Given the description of an element on the screen output the (x, y) to click on. 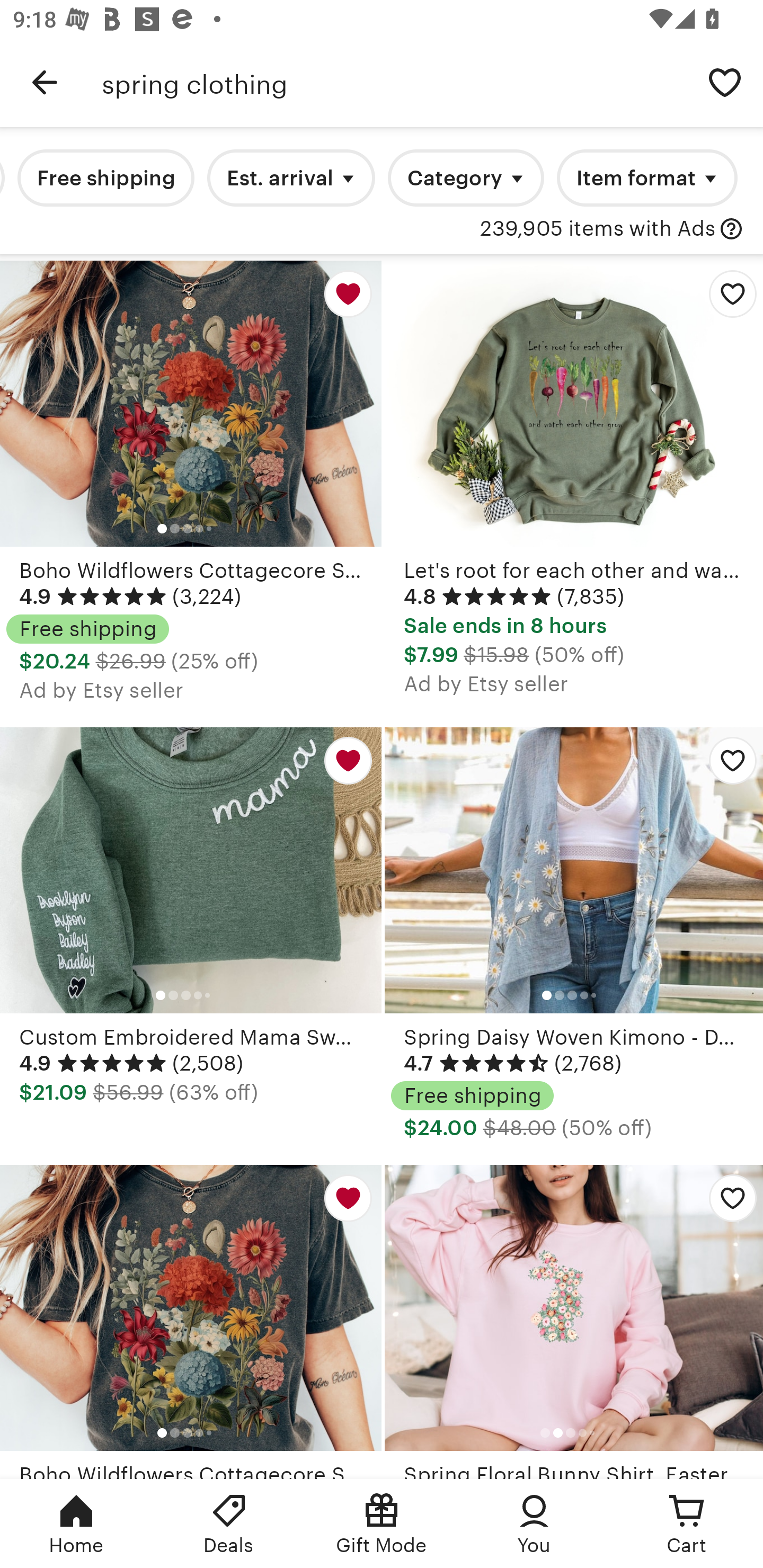
Navigate up (44, 82)
Save search (724, 81)
spring clothing (393, 82)
Free shipping (105, 177)
Est. arrival (291, 177)
Category (465, 177)
Item format (646, 177)
239,905 items with Ads (597, 228)
with Ads (730, 228)
Deals (228, 1523)
Gift Mode (381, 1523)
You (533, 1523)
Cart (686, 1523)
